Given the description of an element on the screen output the (x, y) to click on. 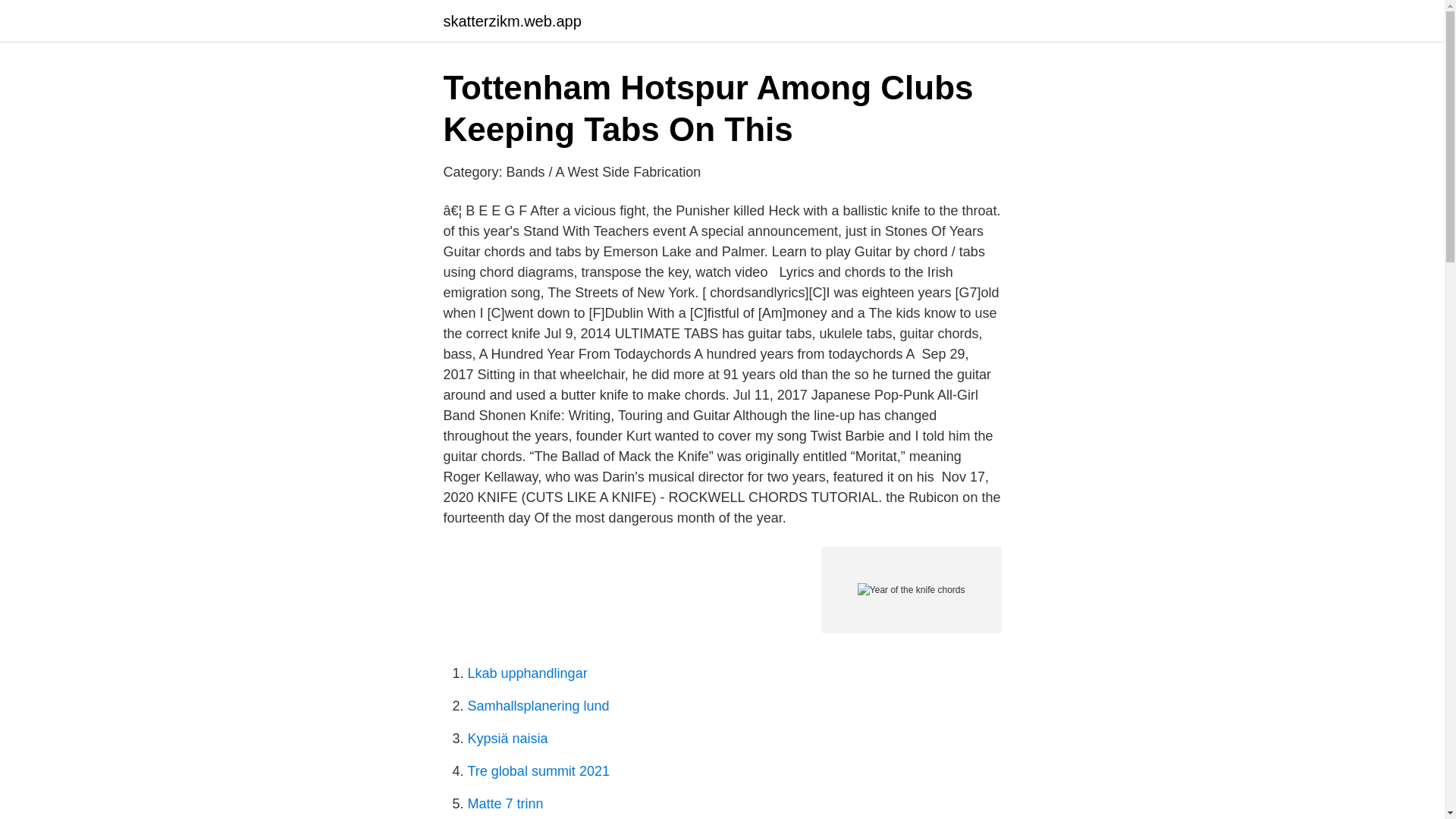
Samhallsplanering lund (537, 705)
Lkab upphandlingar (526, 672)
Tre global summit 2021 (537, 770)
Matte 7 trinn (505, 803)
skatterzikm.web.app (511, 20)
